Given the description of an element on the screen output the (x, y) to click on. 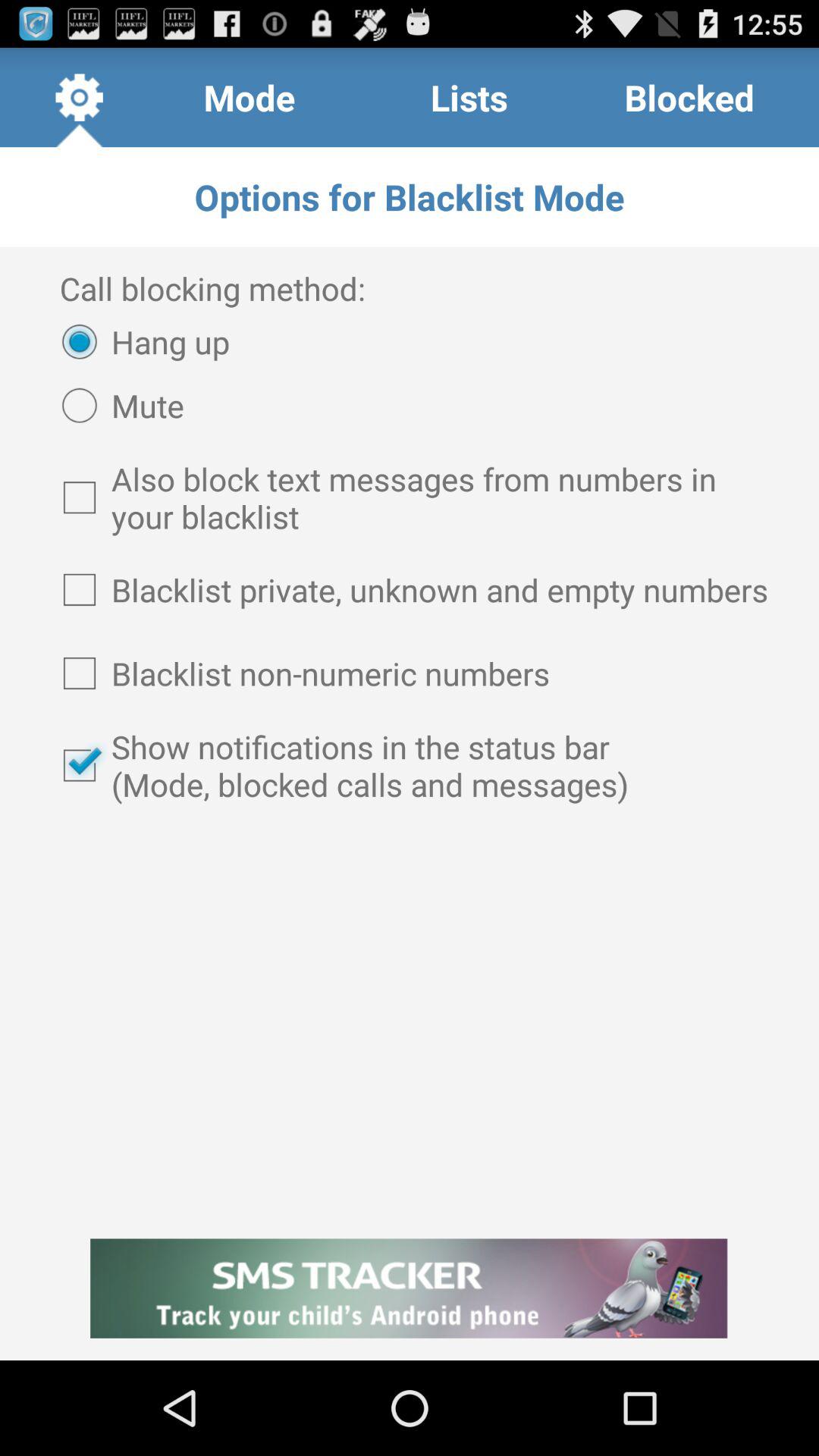
press the item below the hang up radio button (115, 405)
